Given the description of an element on the screen output the (x, y) to click on. 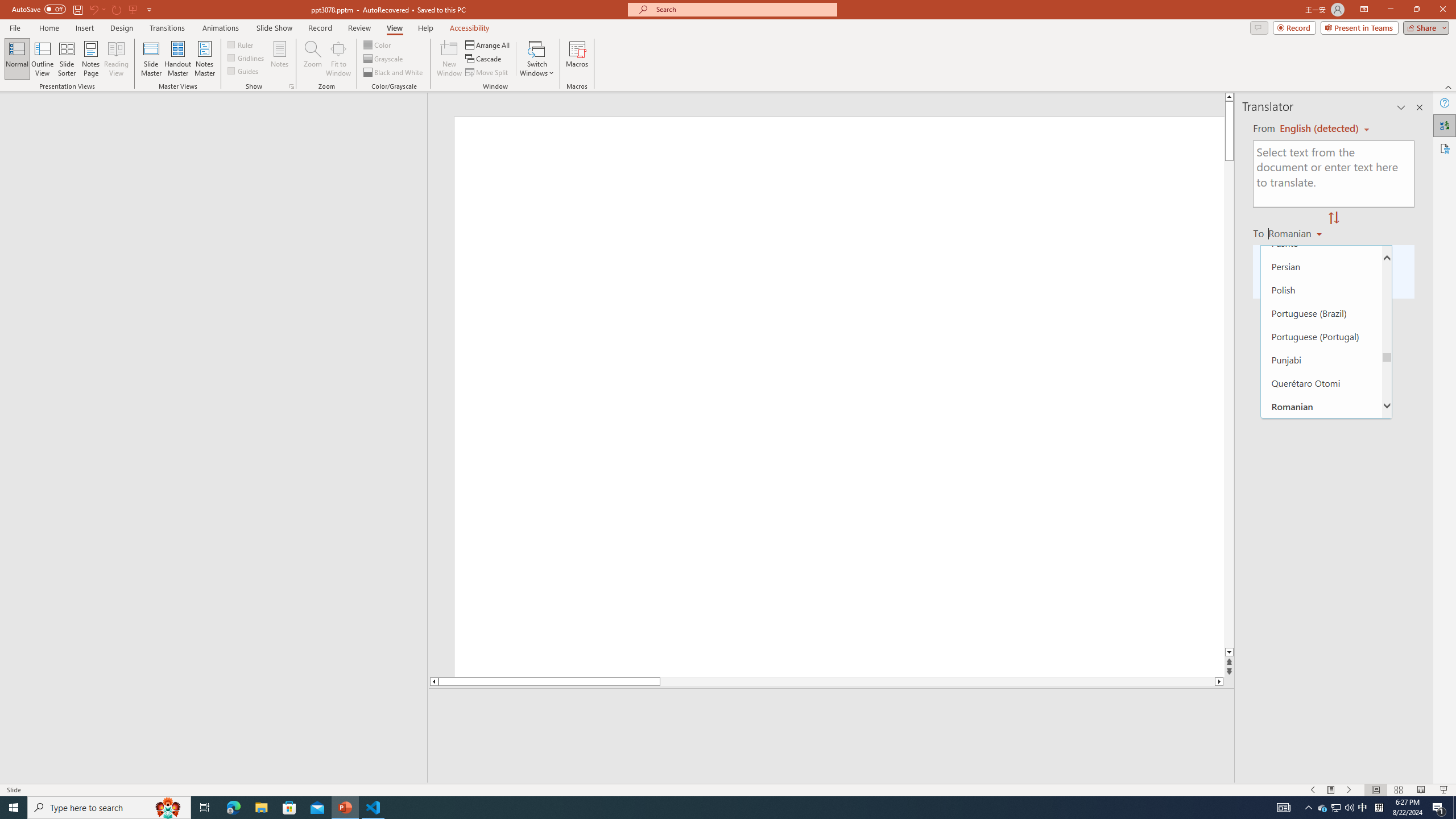
Move Split (487, 72)
Czech (detected) (1319, 128)
Slide Master (151, 58)
Slide Show Previous On (1313, 790)
Portuguese (Portugal) (1320, 336)
Notes Page (90, 58)
Rundi (1320, 428)
Nepali (1320, 149)
Black and White (393, 72)
Notes Master (204, 58)
Romanian (1296, 232)
Russian (1320, 452)
